Given the description of an element on the screen output the (x, y) to click on. 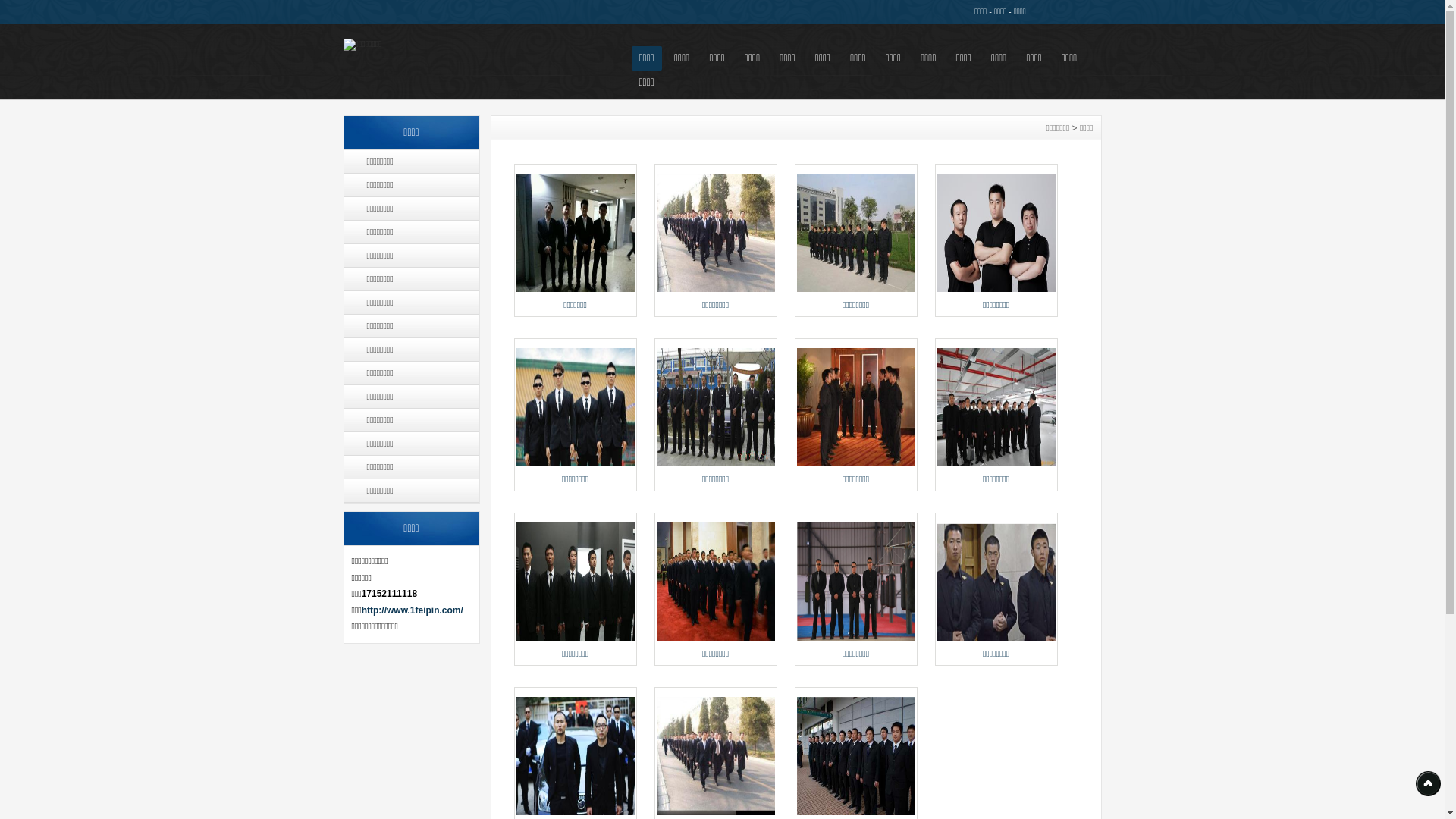
http://www.1feipin.com/ Element type: text (412, 610)
